Given the description of an element on the screen output the (x, y) to click on. 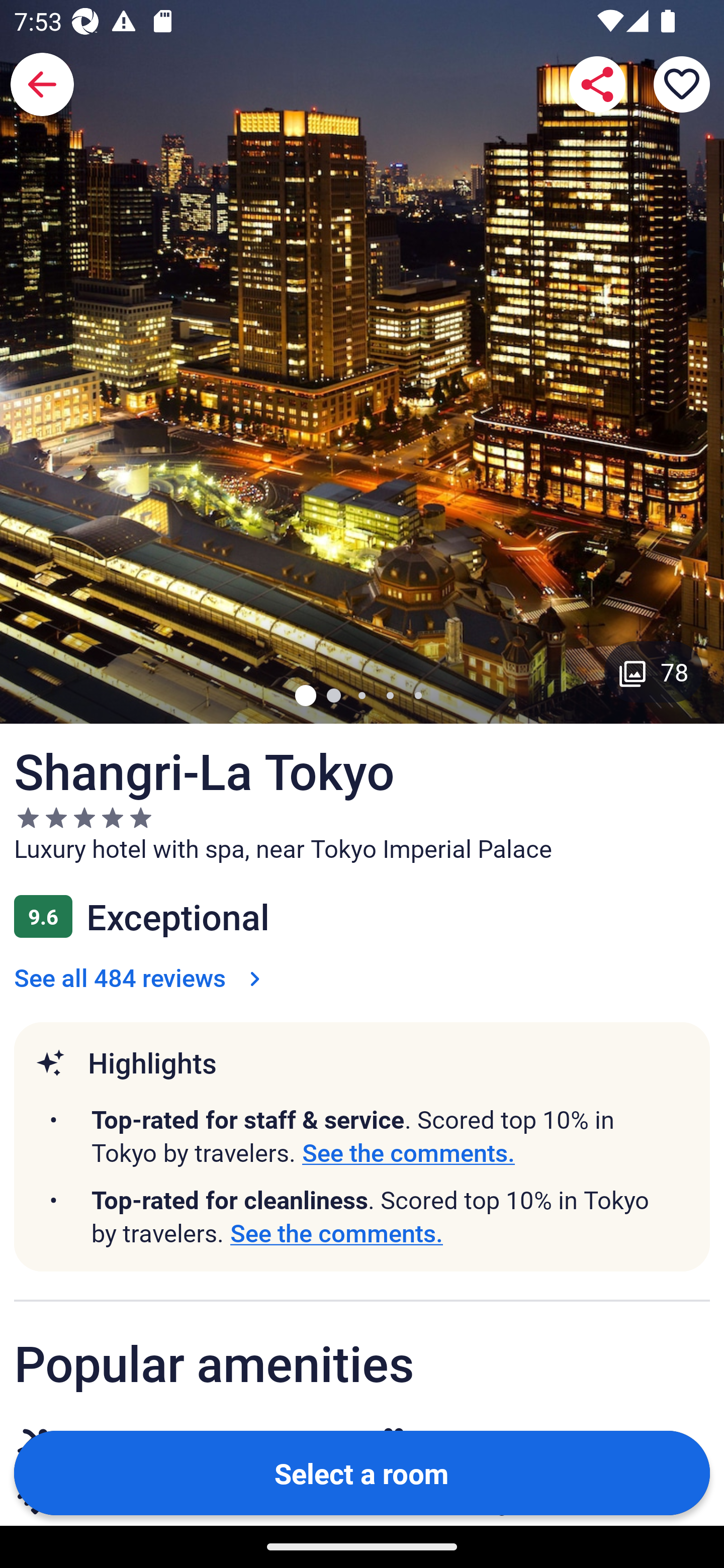
Back (42, 84)
Save property to a trip (681, 84)
Share Shangri-La Tokyo (597, 84)
Gallery button with 78 images (653, 671)
See all 484 reviews See all 484 reviews Link (140, 976)
Select a room Button Select a room (361, 1472)
